Given the description of an element on the screen output the (x, y) to click on. 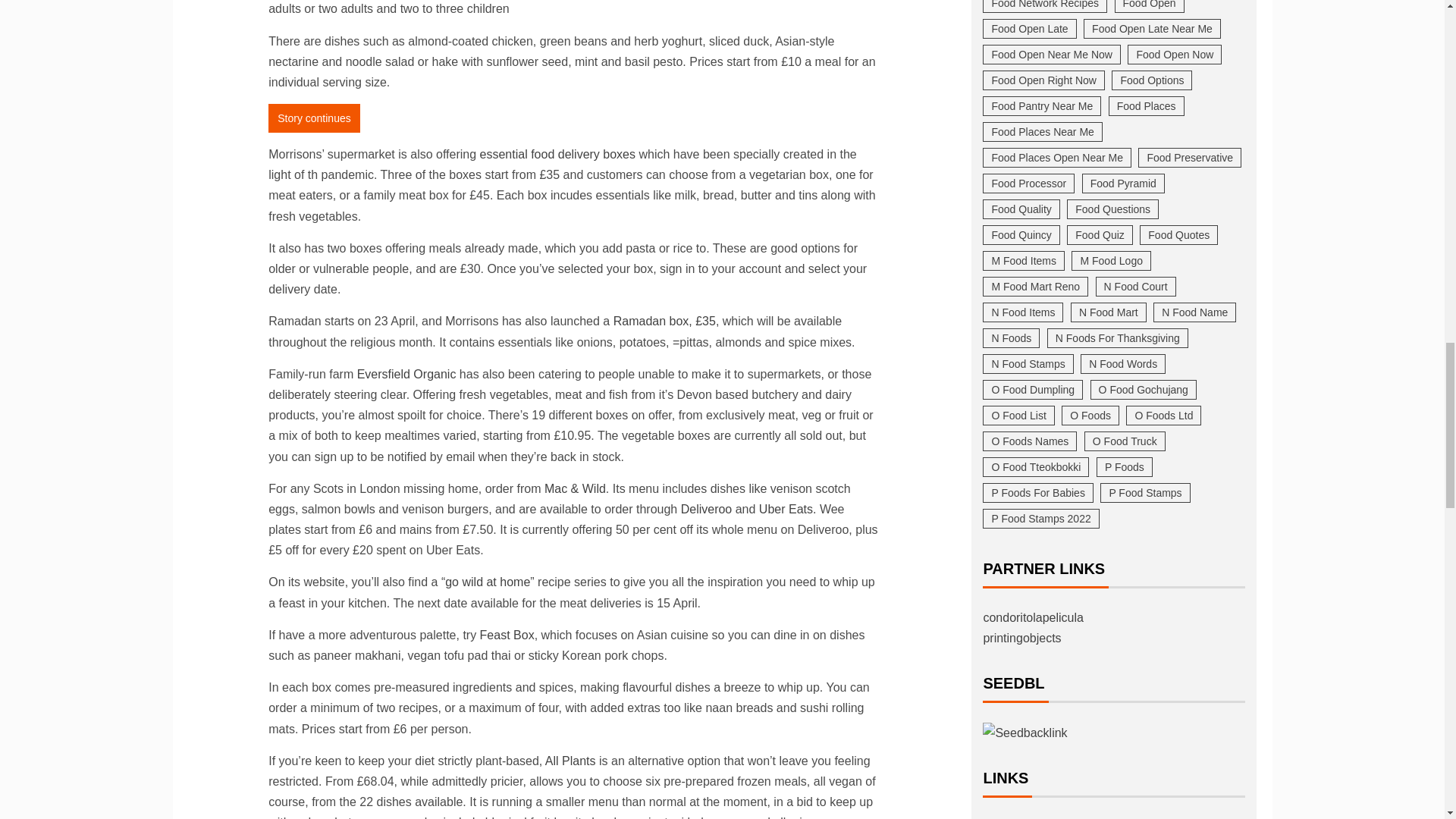
Story continues (313, 118)
essential food delivery boxes (557, 154)
